Given the description of an element on the screen output the (x, y) to click on. 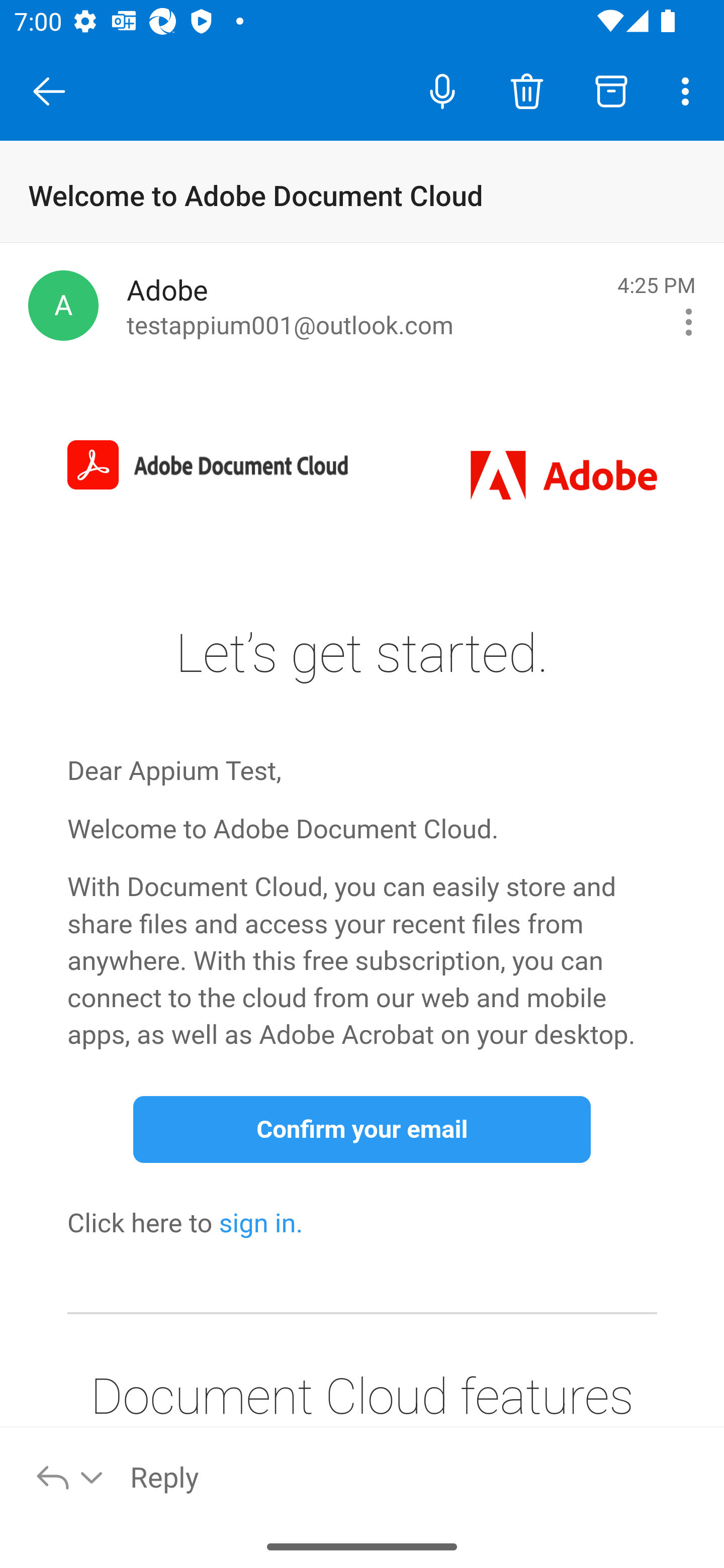
Close (49, 91)
Delete (526, 90)
Archive (611, 90)
More options (688, 90)
Adobe, message@adobe.com (63, 304)
Adobe
to testappium001@outlook.com (364, 305)
Message actions (688, 322)
Confirm your email (361, 1128)
sign in. (261, 1223)
Reply options (70, 1475)
Reply (416, 1475)
